Given the description of an element on the screen output the (x, y) to click on. 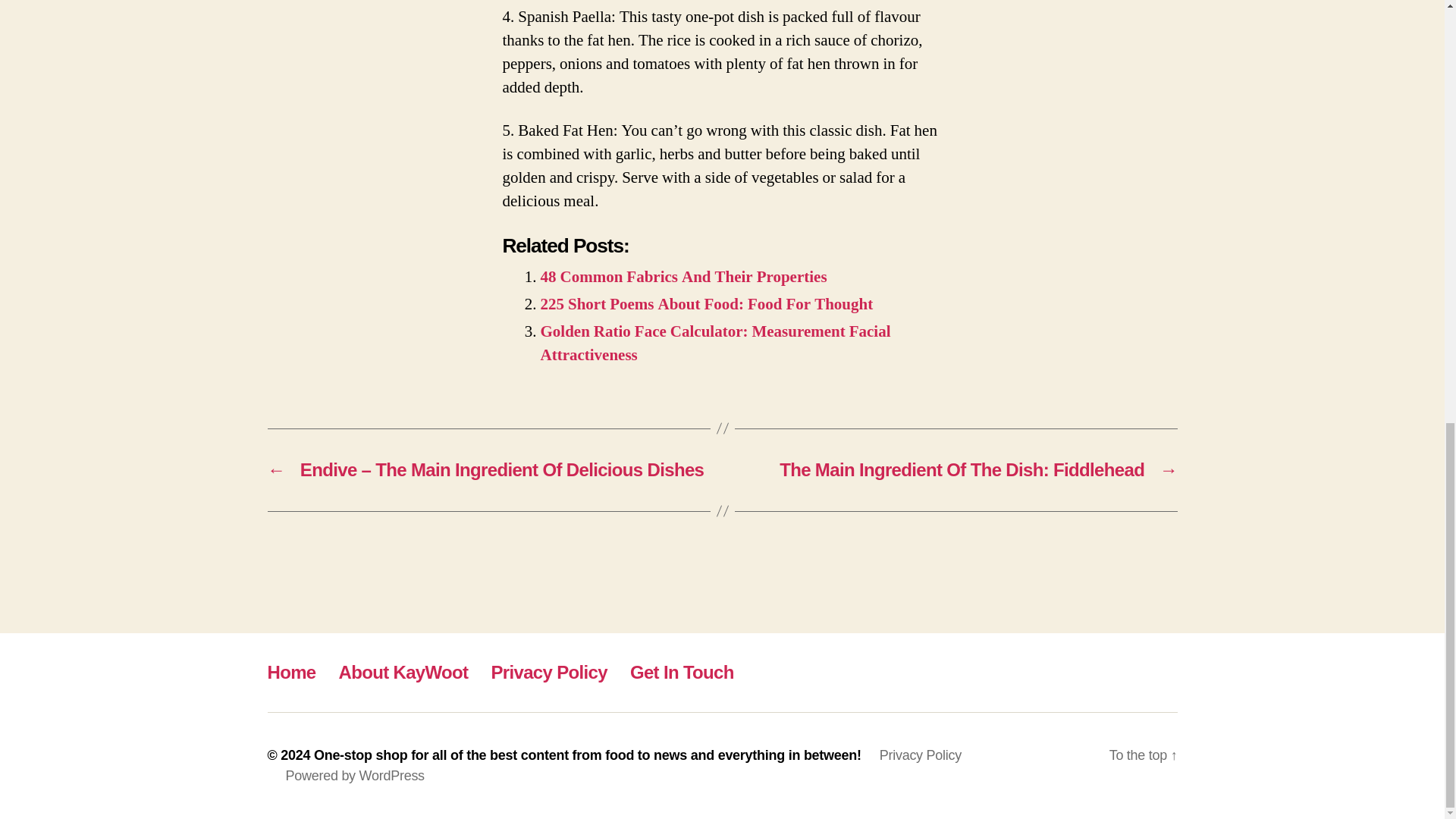
225 Short Poems About Food: Food For Thought (706, 304)
48 Common Fabrics And Their Properties (683, 276)
